Given the description of an element on the screen output the (x, y) to click on. 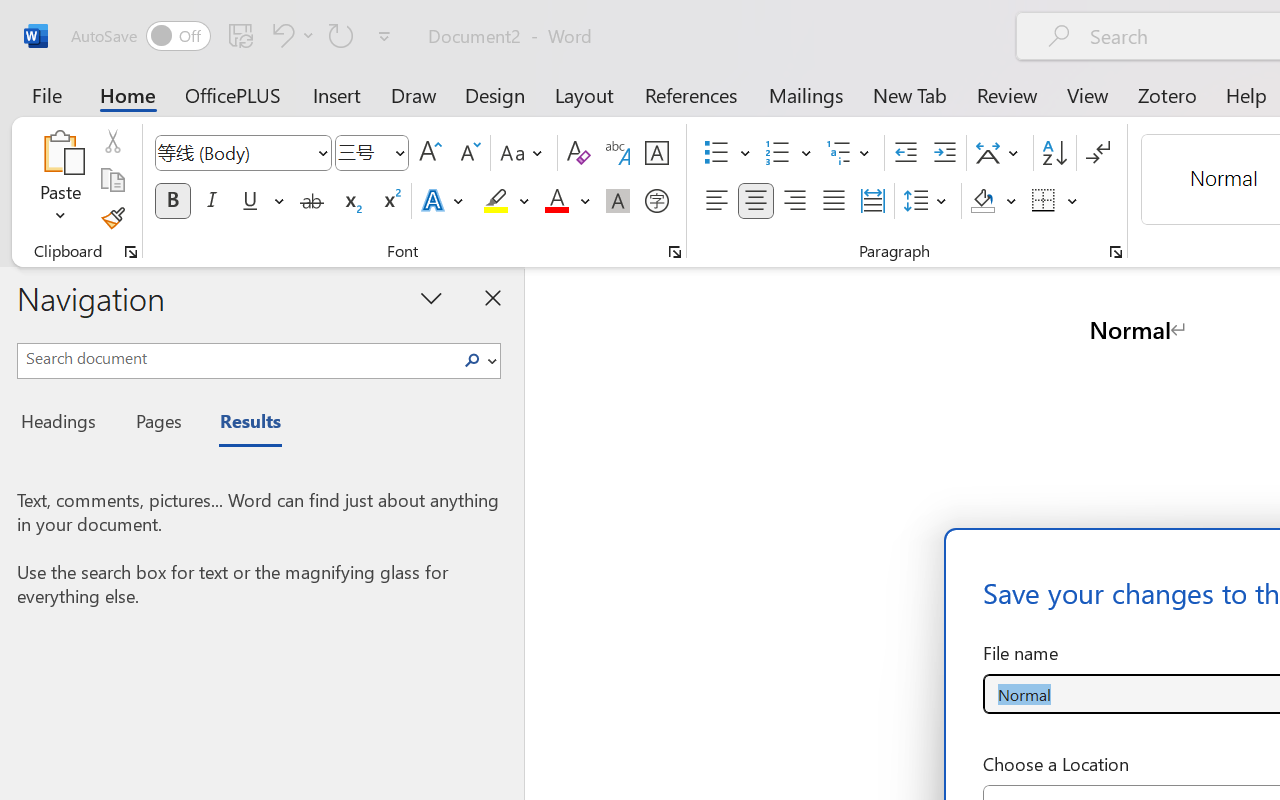
Justify (834, 201)
Asian Layout (1000, 153)
Zotero (1166, 94)
Pages (156, 424)
Repeat Style (341, 35)
Shading RGB(0, 0, 0) (982, 201)
Increase Indent (944, 153)
References (690, 94)
Class: NetUIImage (471, 360)
Design (495, 94)
Shrink Font (468, 153)
Search document (236, 358)
Font (234, 152)
Search (478, 360)
Paste (60, 179)
